Given the description of an element on the screen output the (x, y) to click on. 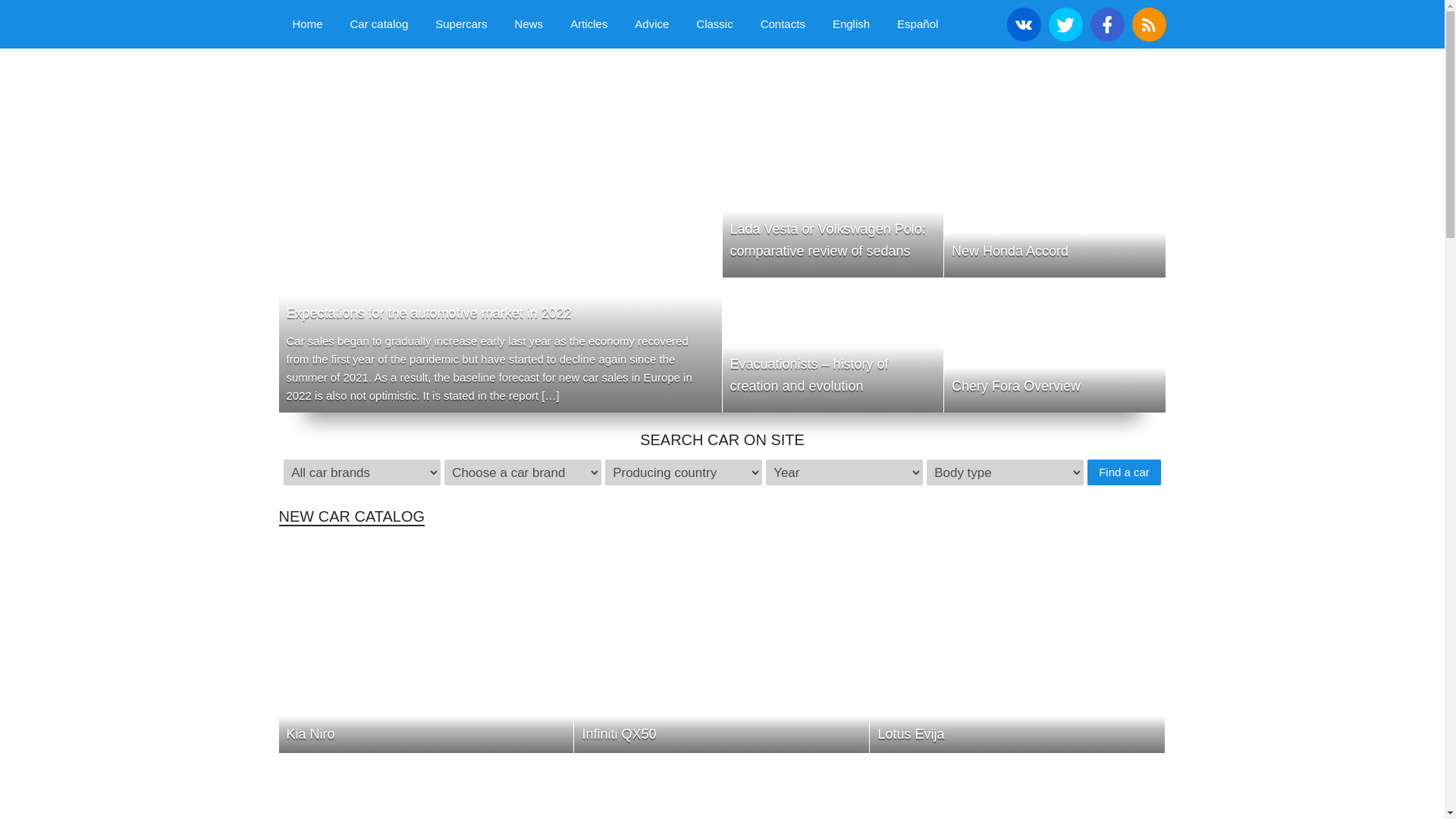
Chery Fora Overview (1054, 345)
Devel Sixteen (426, 786)
Home (307, 24)
Lotus Evija (1016, 646)
Supercars (461, 24)
New Honda Accord (1054, 210)
Contacts (782, 24)
Advice (651, 24)
News (528, 24)
Lada Vesta or Volkswagen Polo: comparative review of sedans (832, 210)
1cars.org (404, 87)
Articles (588, 24)
Car catalog (379, 24)
Infiniti QX50 (721, 646)
Kia Niro (426, 646)
